Given the description of an element on the screen output the (x, y) to click on. 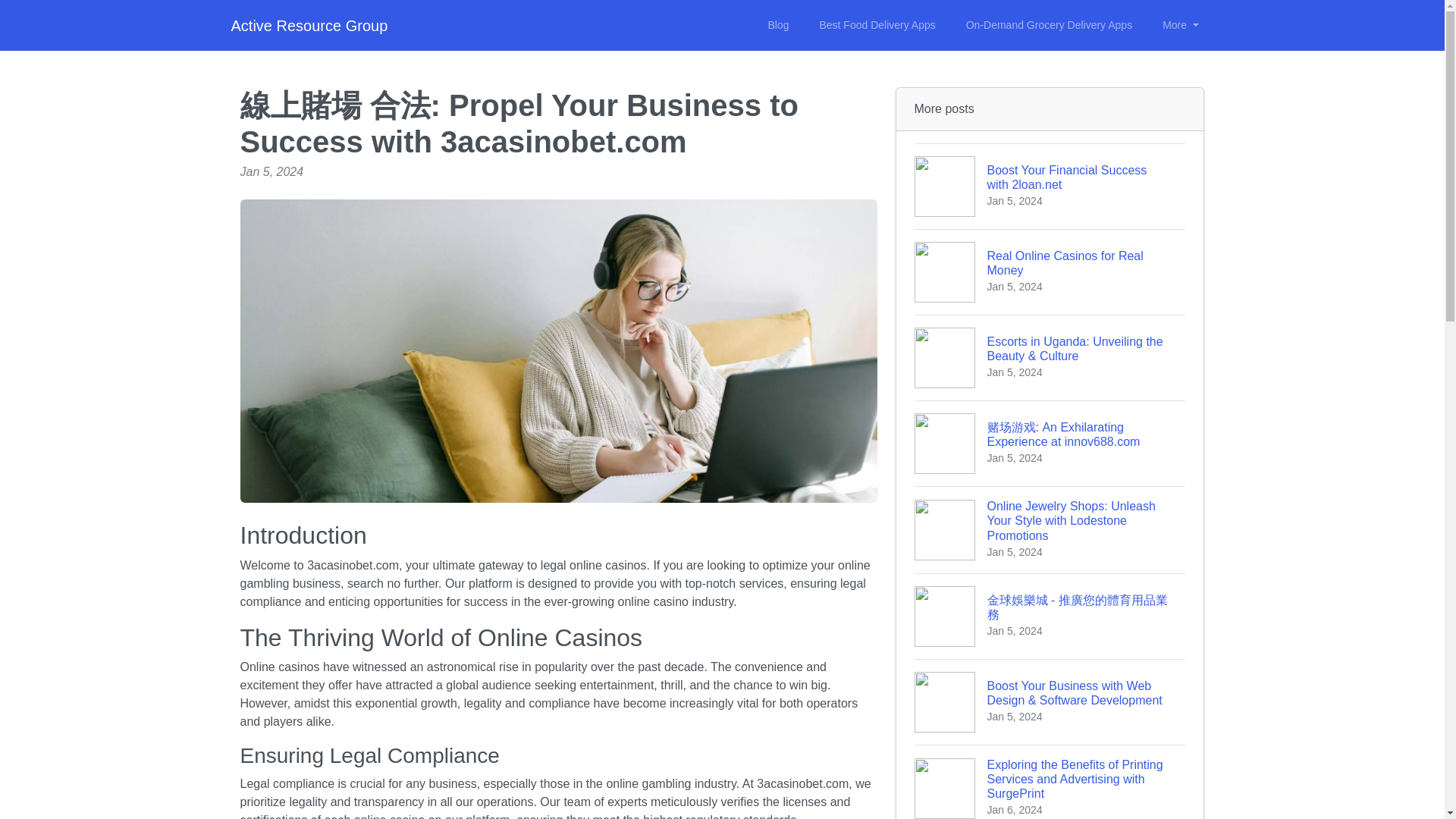
More (1180, 25)
On-Demand Grocery Delivery Apps (1048, 25)
Active Resource Group (1050, 186)
Blog (1050, 271)
Best Food Delivery Apps (308, 25)
